Given the description of an element on the screen output the (x, y) to click on. 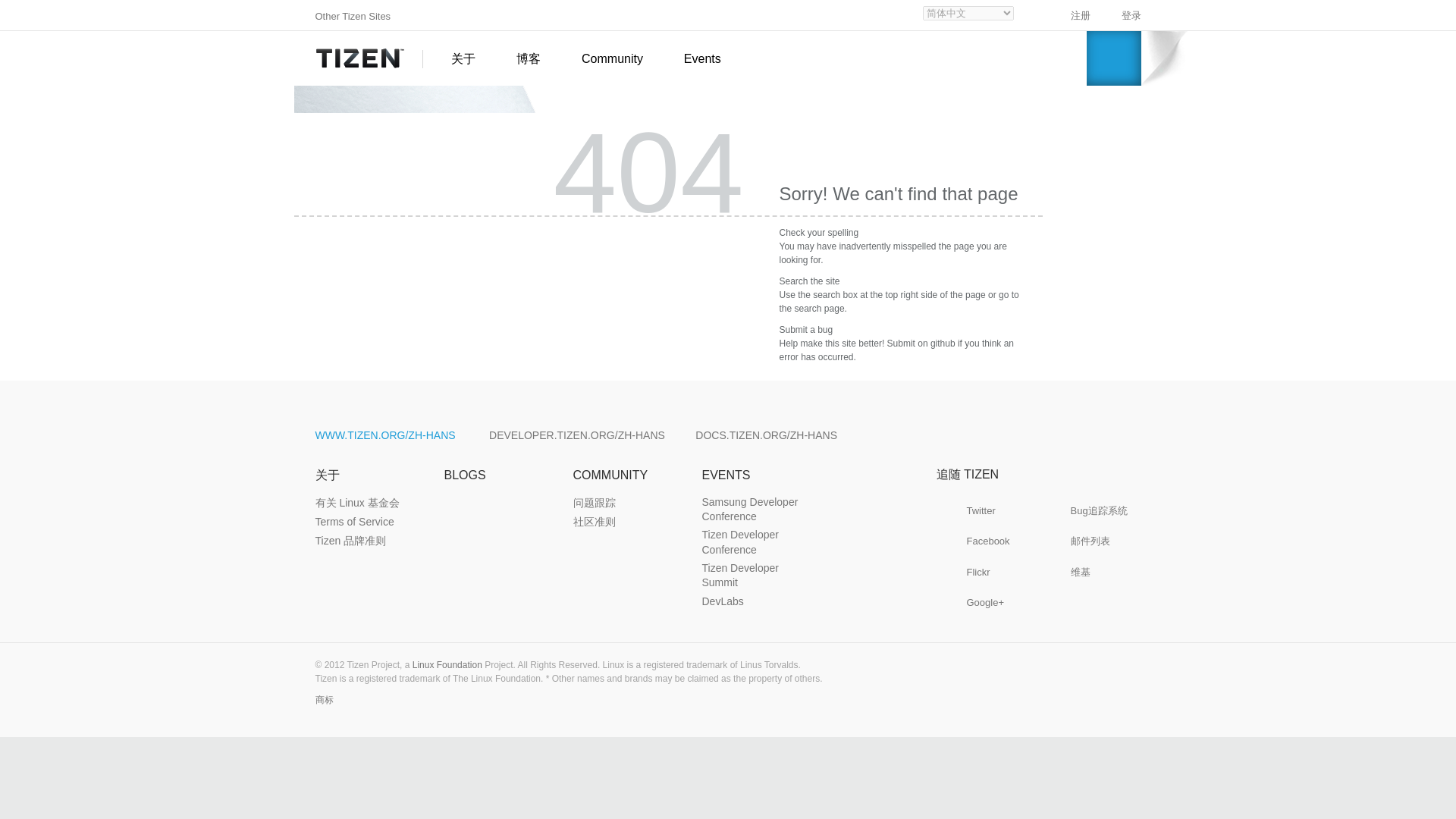
Community (611, 58)
EVENTS (726, 475)
Blogs (465, 475)
Samsung Developer Conference (756, 509)
Community (611, 58)
Community Guidelines (594, 522)
Facebook (987, 541)
Flickr (987, 572)
Events (696, 58)
DevLabs (722, 601)
